Given the description of an element on the screen output the (x, y) to click on. 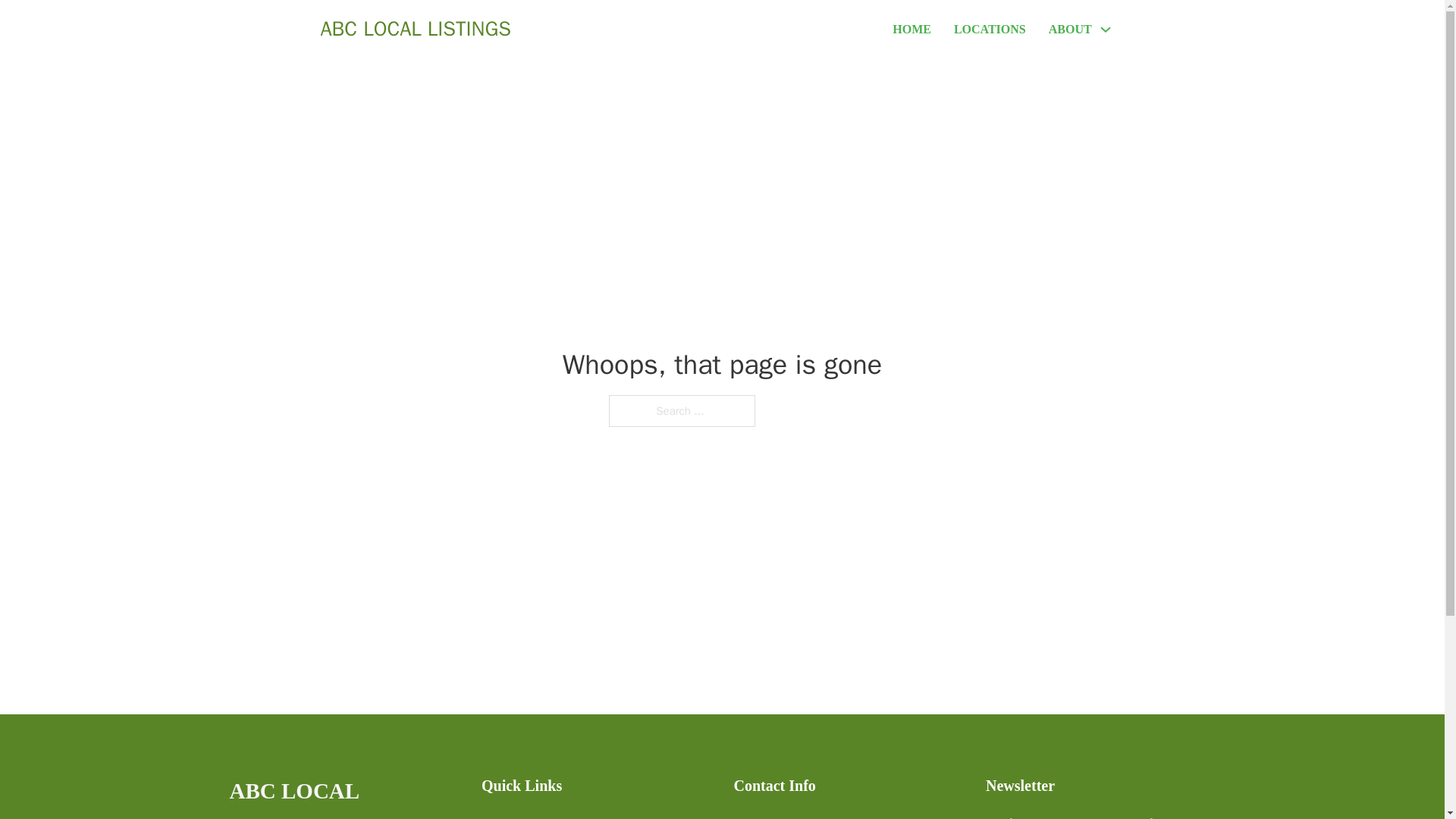
HOME (911, 28)
ABC LOCAL LISTINGS (343, 796)
LOCATIONS (989, 28)
Home (496, 816)
ABC LOCAL LISTINGS (415, 28)
